Given the description of an element on the screen output the (x, y) to click on. 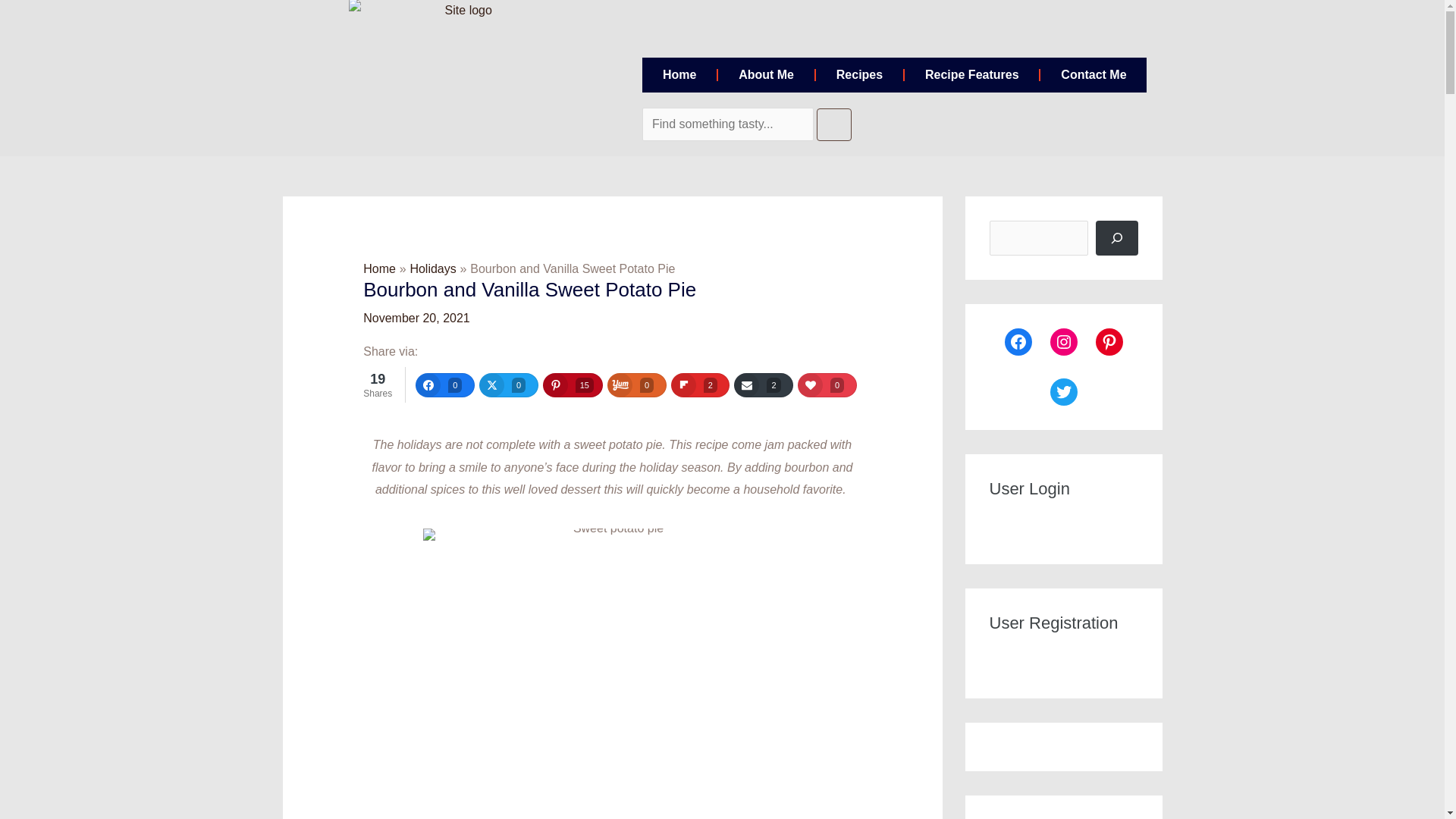
Contact Me (1094, 74)
Recipe Features (971, 74)
Home (679, 74)
About Me (765, 74)
Recipes (858, 74)
